Given the description of an element on the screen output the (x, y) to click on. 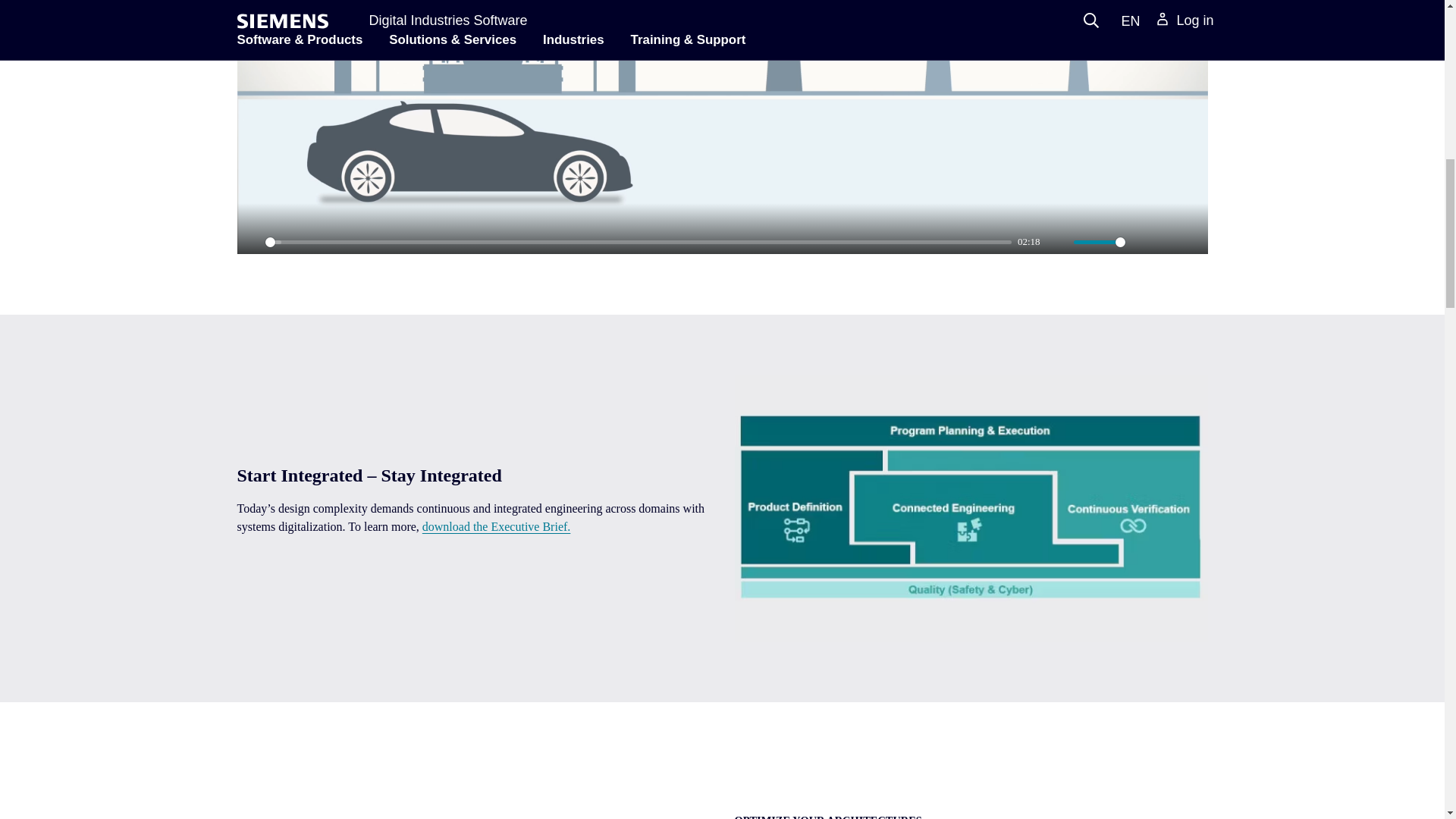
1 (1099, 242)
0 (637, 242)
